Given the description of an element on the screen output the (x, y) to click on. 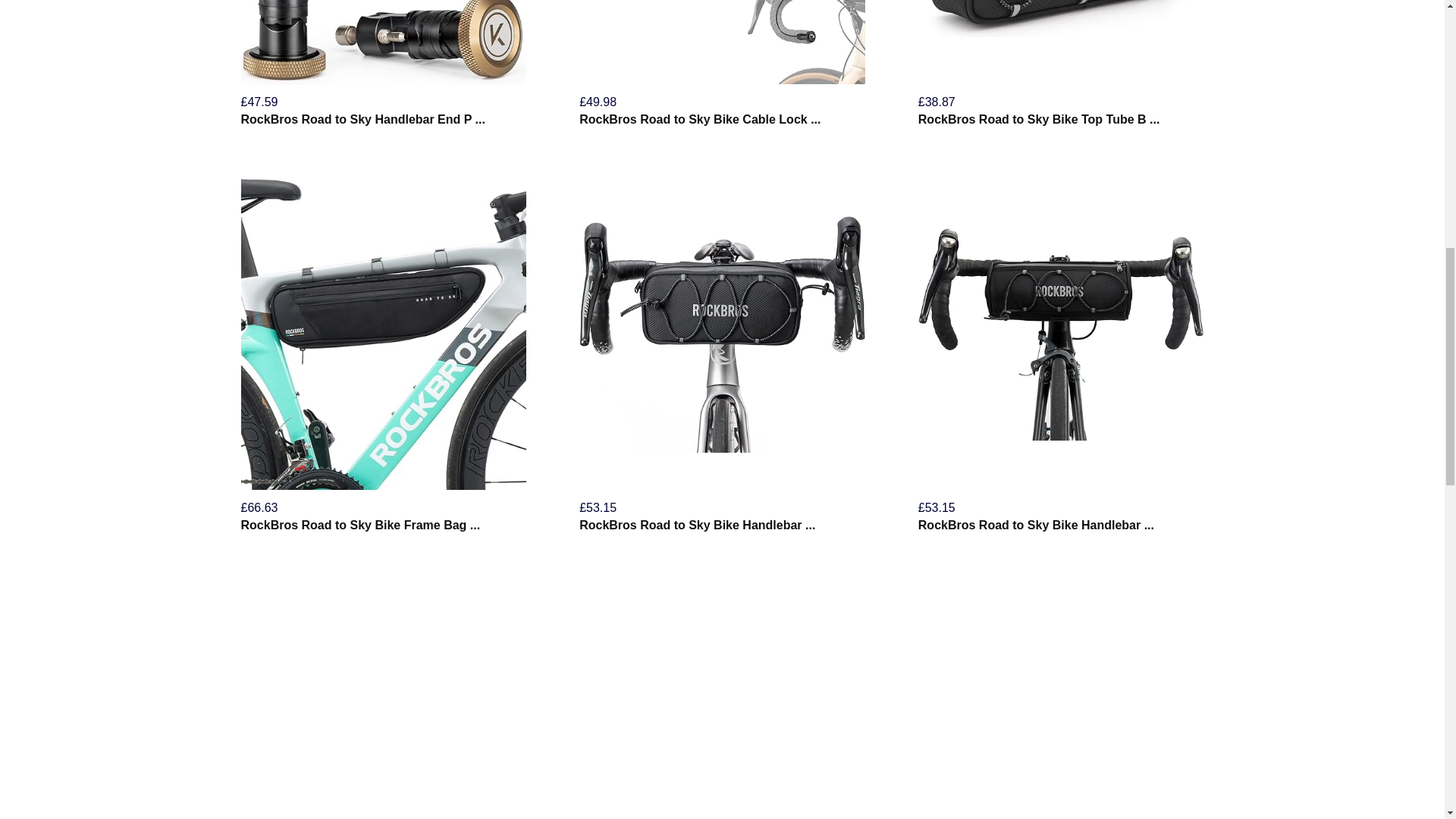
RockBros Road to Sky Bike Frame Bag ... (360, 524)
RockBros Road to Sky Bike Handlebar ... (697, 524)
RockBros Road to Sky Handlebar End P ... (362, 119)
RockBros Road to Sky Bike Cable Lock ... (700, 119)
RockBros Road to Sky Bike Top Tube B ... (1039, 119)
